Given the description of an element on the screen output the (x, y) to click on. 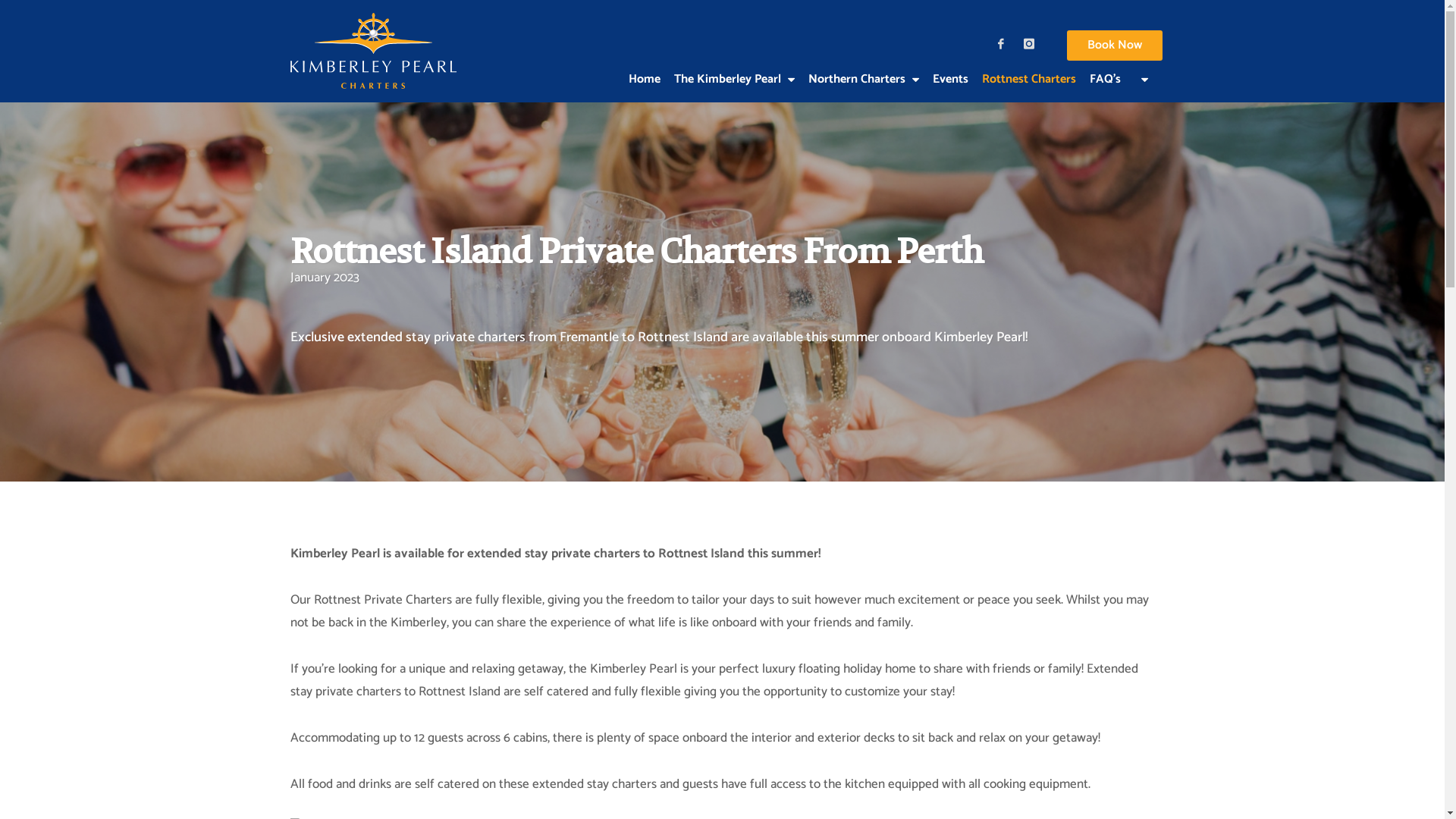
The Kimberley Pearl Element type: text (734, 64)
Northern Charters Element type: text (862, 64)
Events Element type: text (949, 64)
FAQ's Element type: text (1104, 64)
Home Element type: text (644, 64)
Book Now Element type: text (1113, 45)
Rottnest Charters Element type: text (1028, 64)
